Given the description of an element on the screen output the (x, y) to click on. 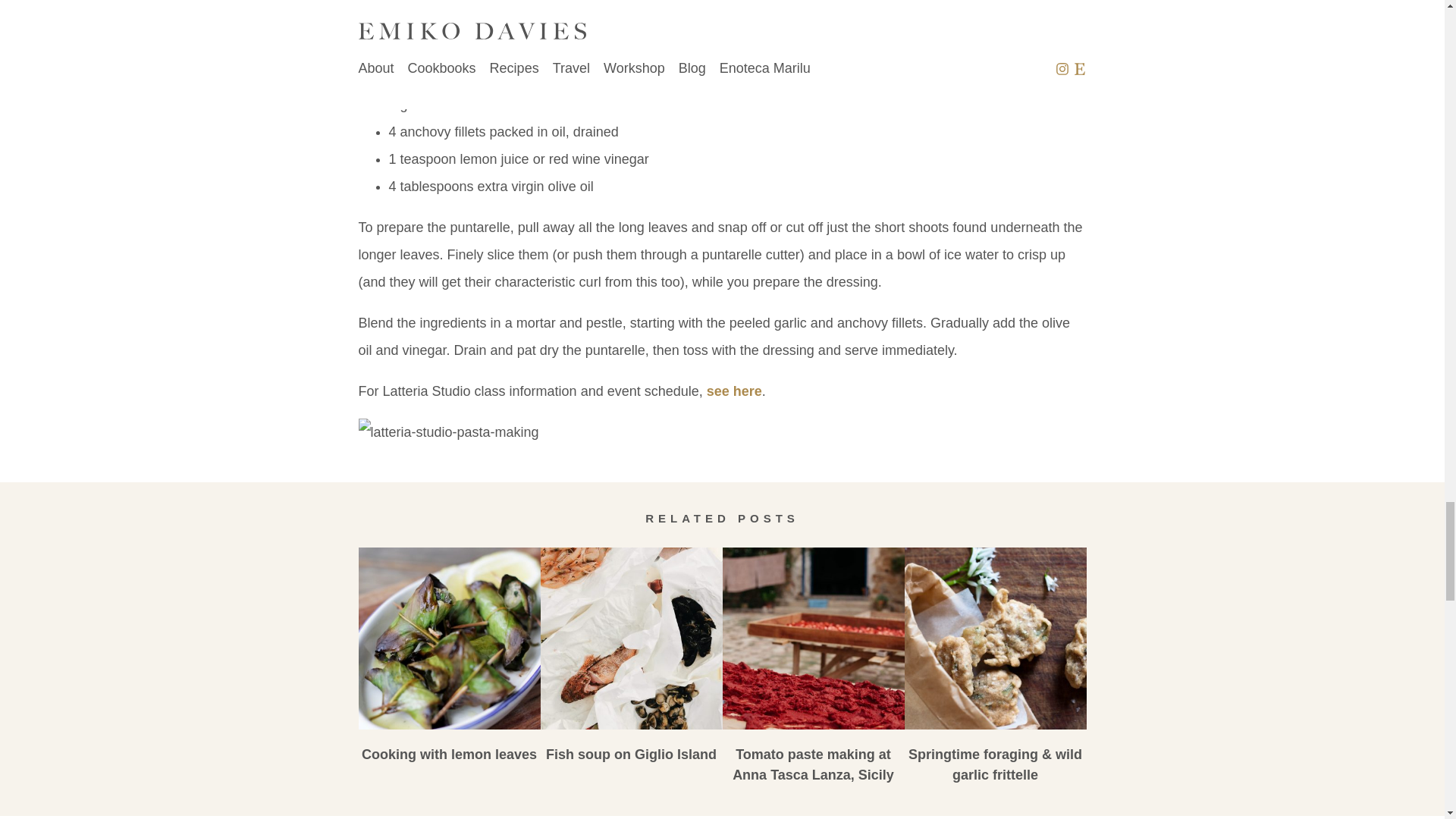
Fish soup on Giglio (631, 638)
fritelle sammole wild garlic feature (995, 638)
lemon leaf feature1 (449, 638)
